Given the description of an element on the screen output the (x, y) to click on. 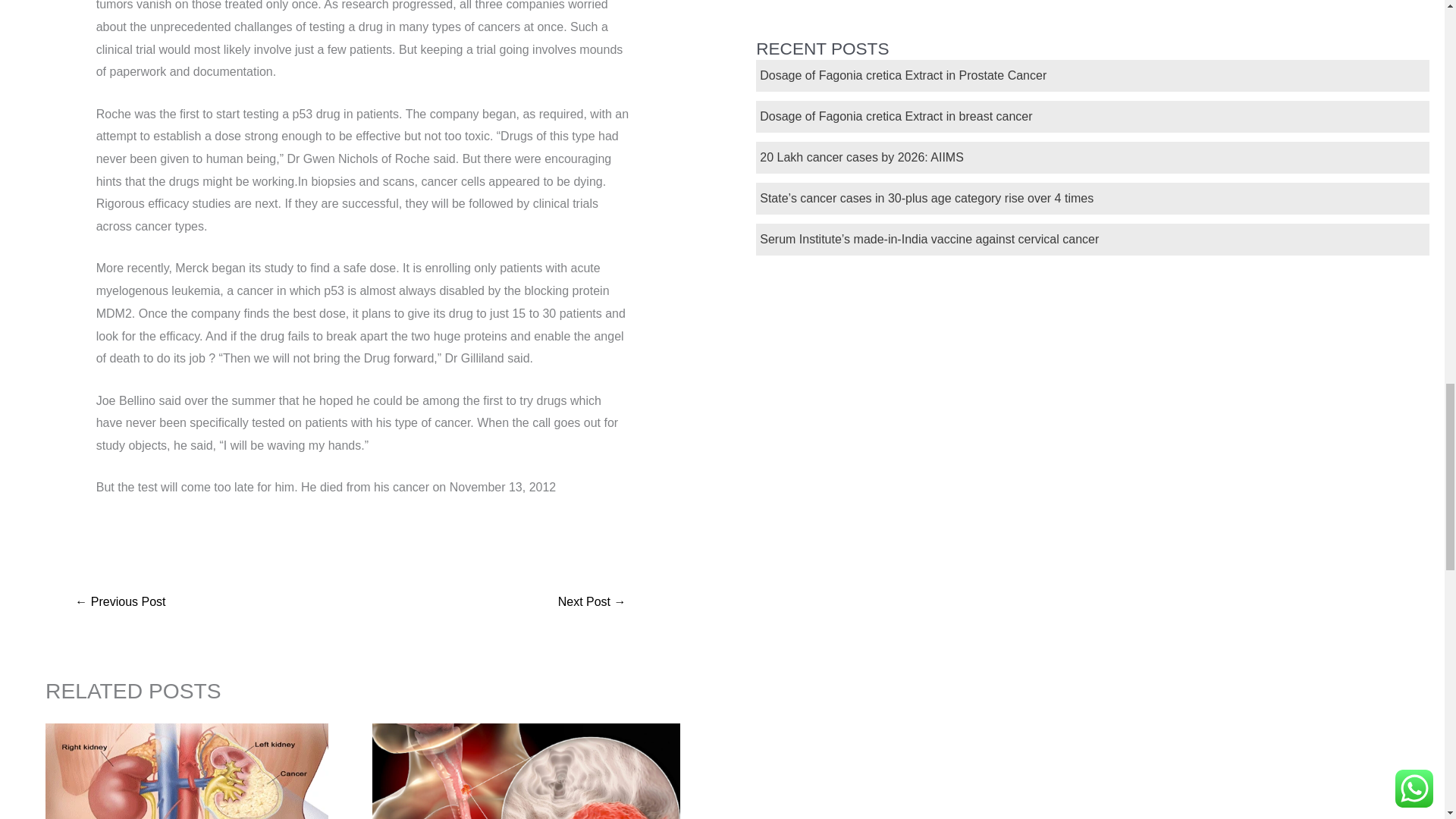
Medically recommended diet for stomach cancer patients (119, 602)
